Given the description of an element on the screen output the (x, y) to click on. 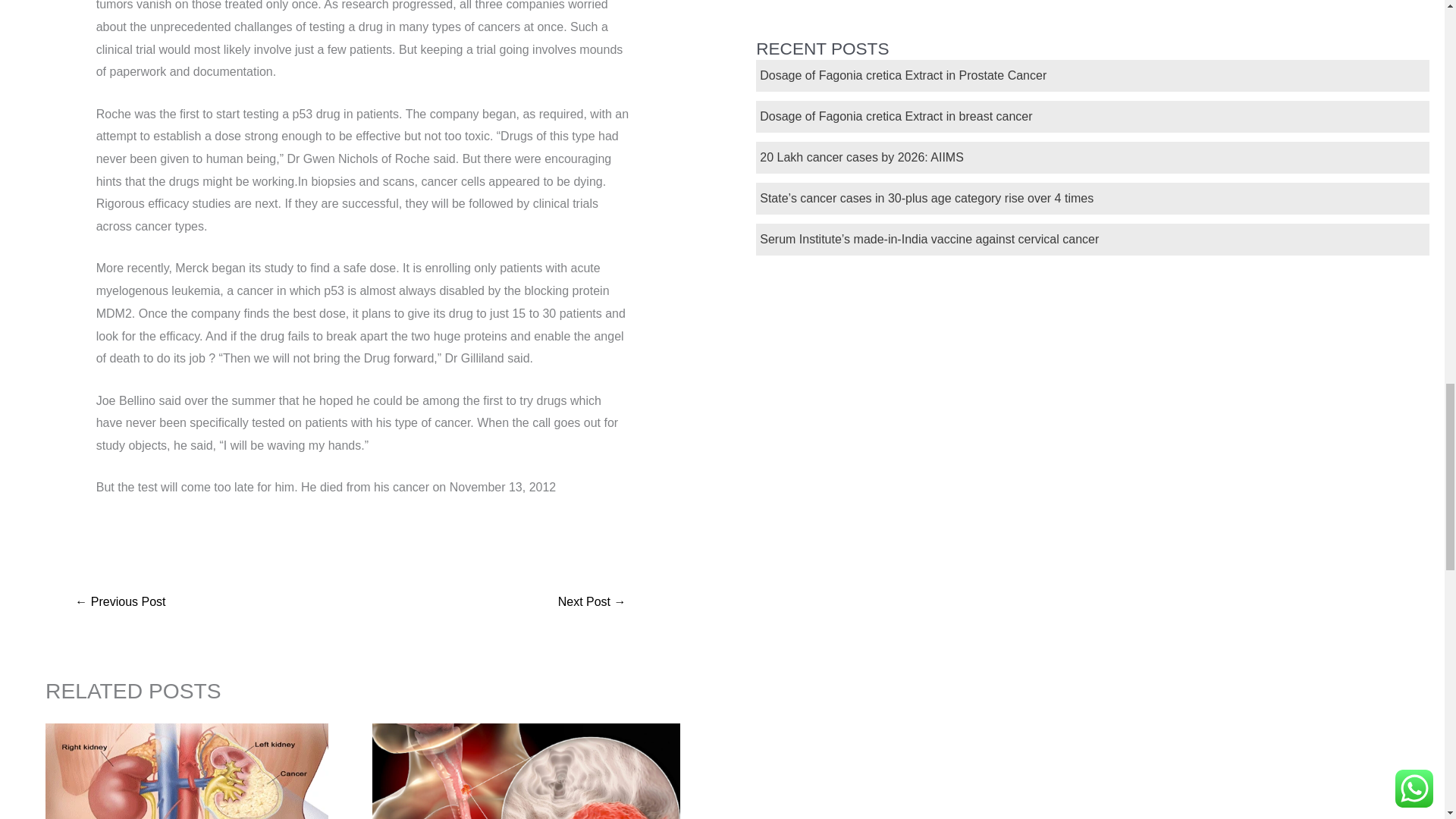
Medically recommended diet for stomach cancer patients (119, 602)
